Given the description of an element on the screen output the (x, y) to click on. 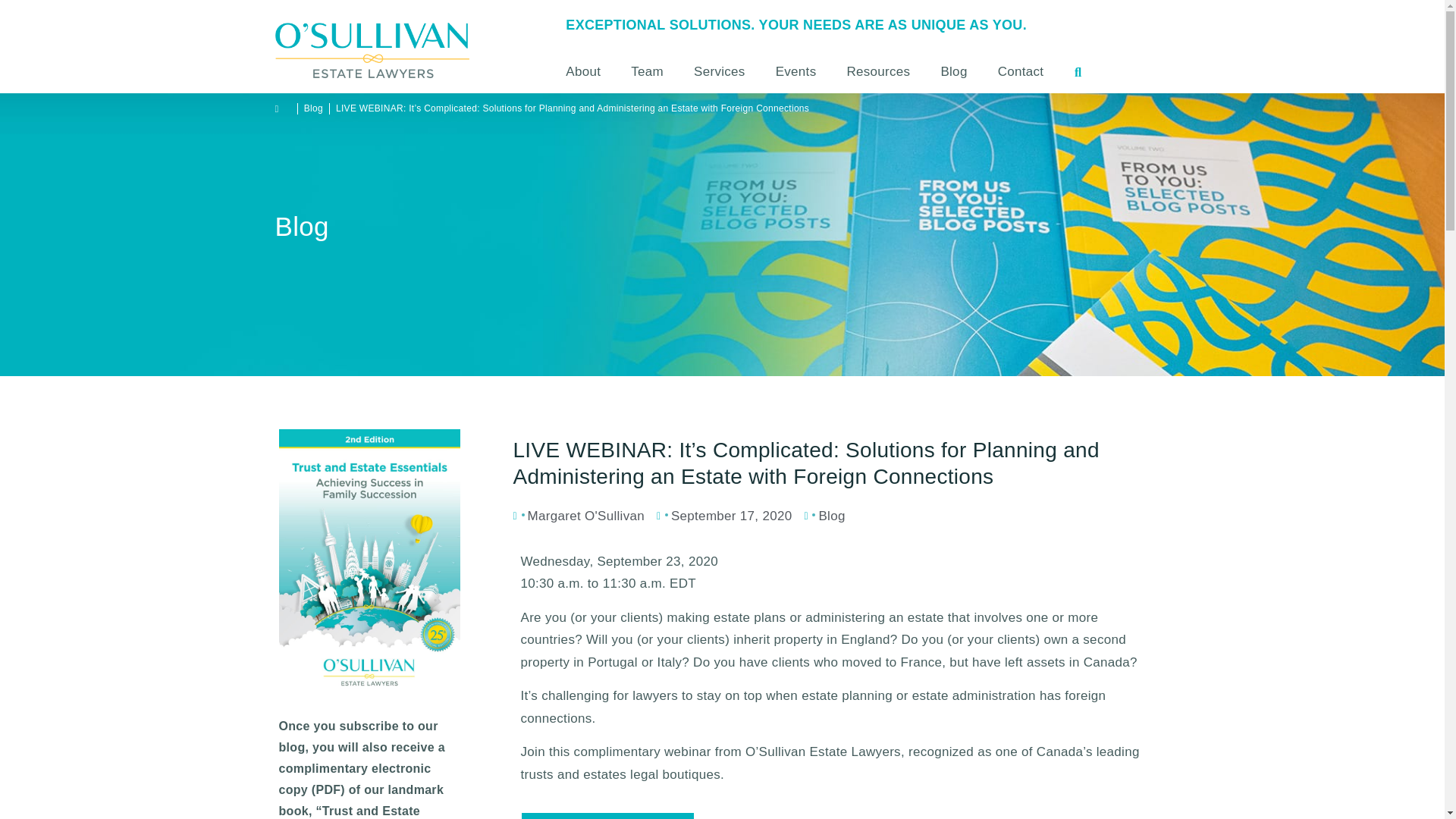
Blog (952, 71)
About (590, 71)
Events (795, 71)
Resources (877, 71)
Services (719, 71)
Team (646, 71)
Contact (1020, 71)
